Given the description of an element on the screen output the (x, y) to click on. 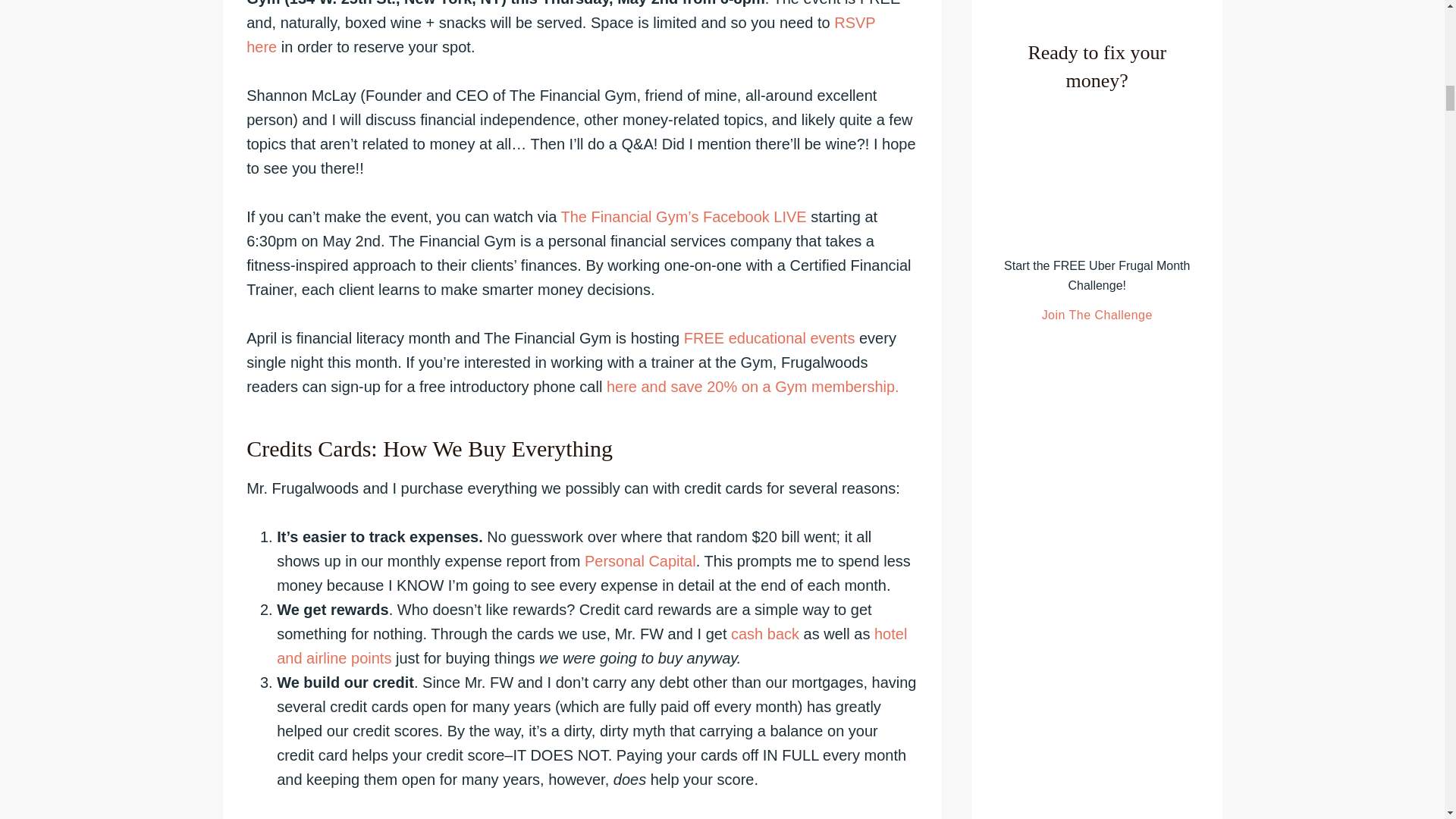
CardRatings - Travel Rewards (591, 645)
RSVP here (560, 34)
CardRatings - Cash Back (764, 633)
Personal Capital (640, 560)
Personal Capital (640, 560)
FREE educational events (770, 338)
cash back (764, 633)
hotel and airline points (591, 645)
